Given the description of an element on the screen output the (x, y) to click on. 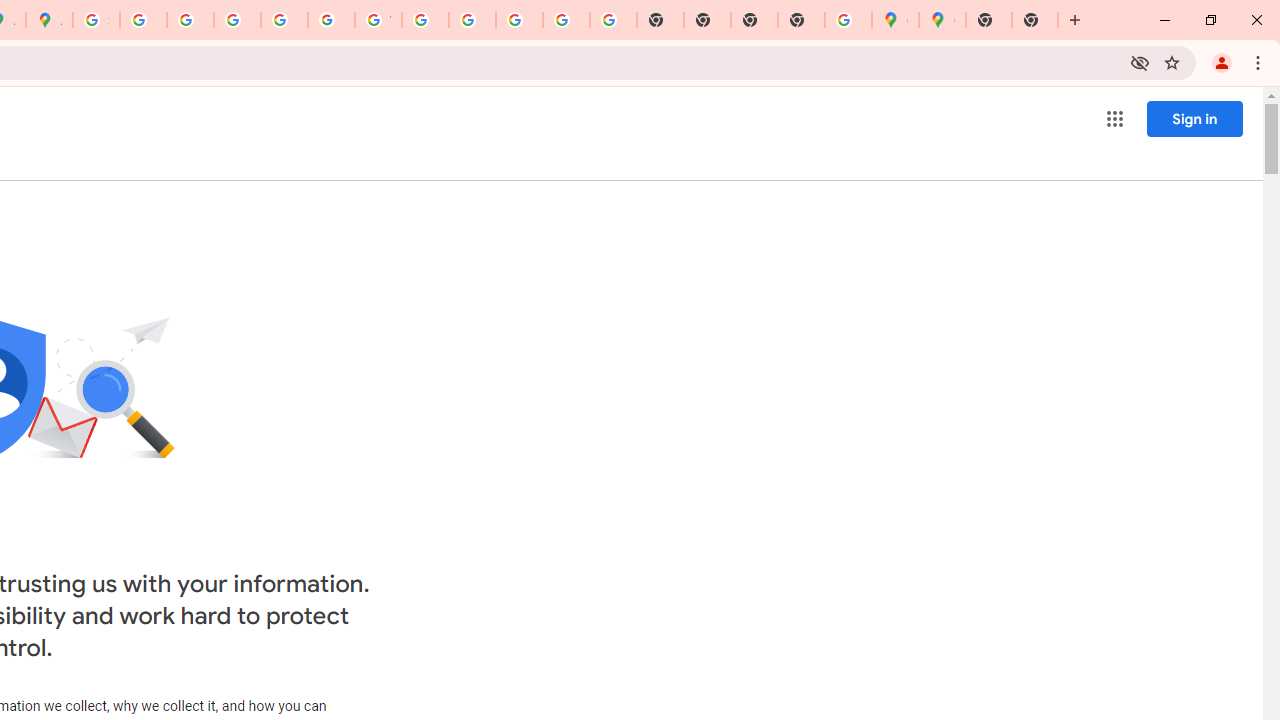
Sign in - Google Accounts (96, 20)
New Tab (1035, 20)
Restore (1210, 20)
Privacy Help Center - Policies Help (237, 20)
Privacy Help Center - Policies Help (189, 20)
Third-party cookies blocked (1139, 62)
New Tab (1075, 20)
Browse Chrome as a guest - Computer - Google Chrome Help (425, 20)
New Tab (989, 20)
Google Maps (942, 20)
